Given the description of an element on the screen output the (x, y) to click on. 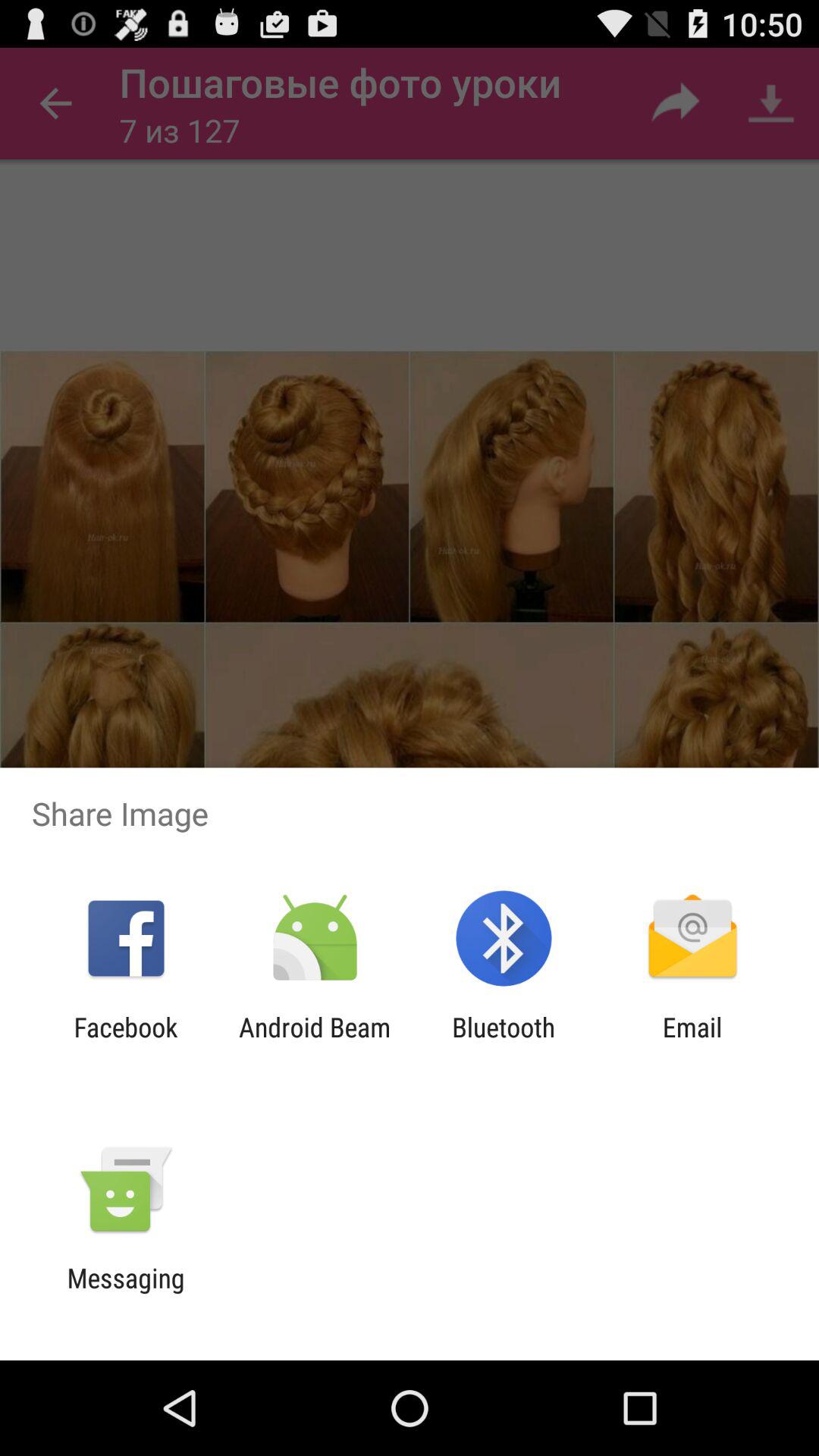
scroll until bluetooth (503, 1042)
